Given the description of an element on the screen output the (x, y) to click on. 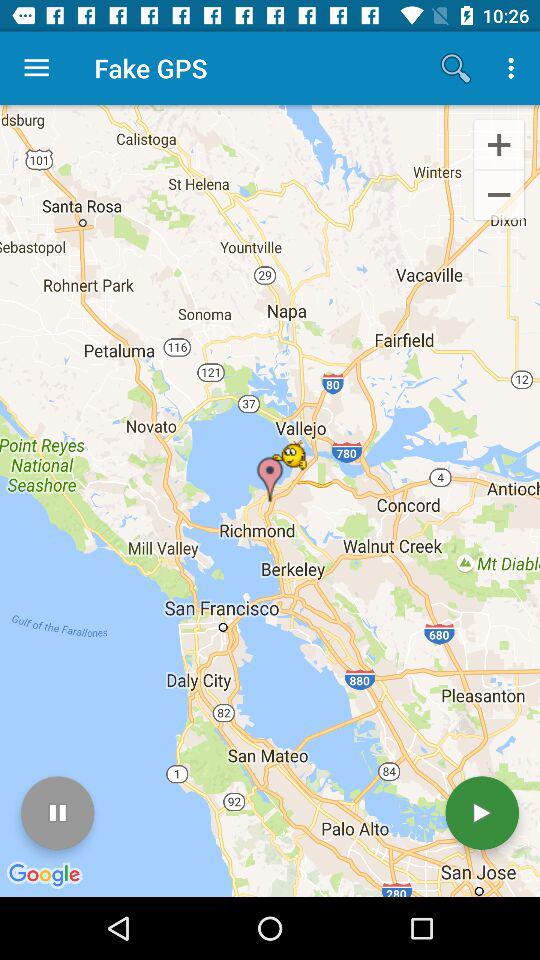
launch icon next to the fake gps app (455, 67)
